Given the description of an element on the screen output the (x, y) to click on. 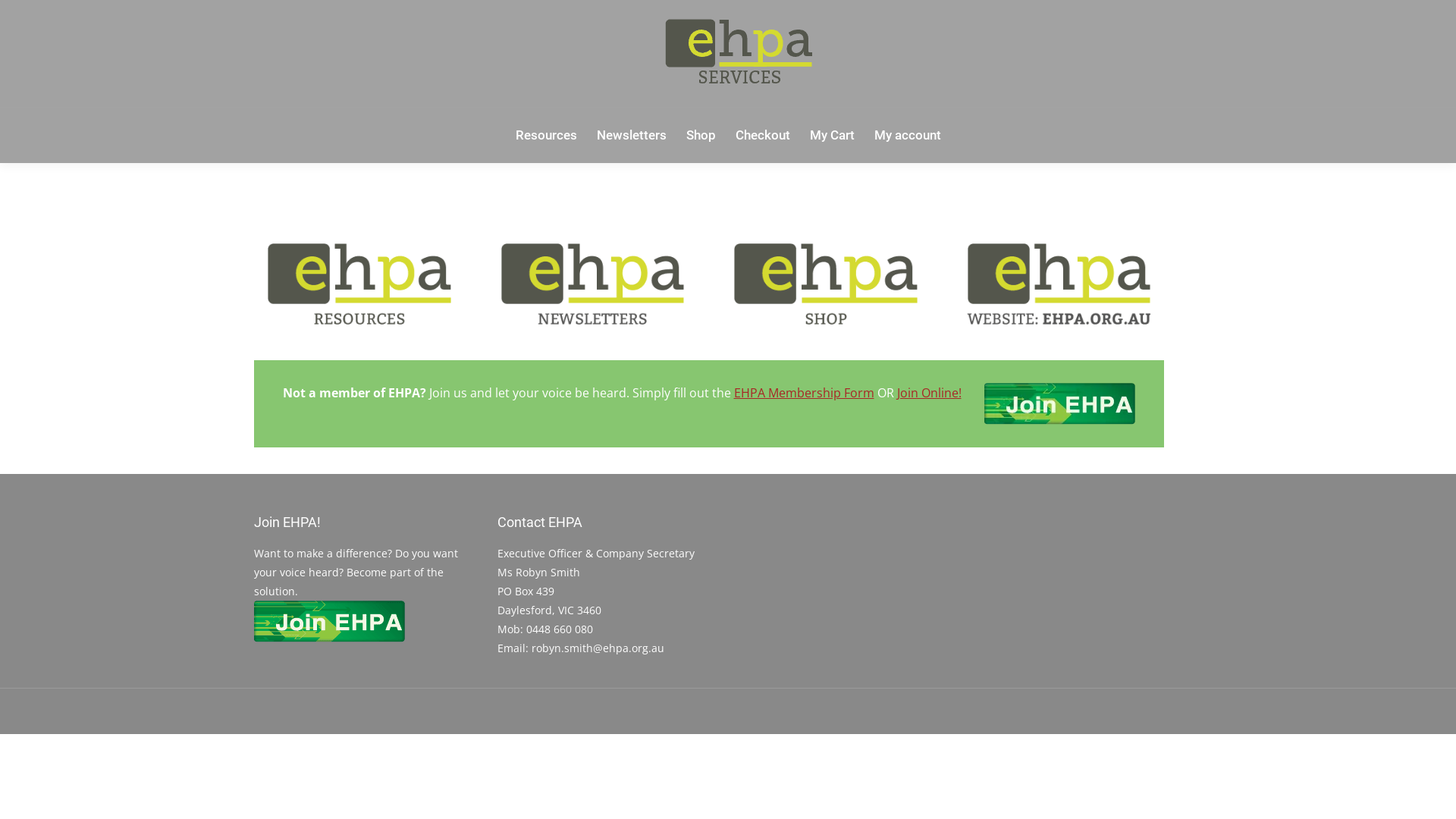
Resources Element type: text (546, 135)
robyn.smith@ehpa.org.au Element type: text (597, 647)
My account Element type: text (906, 135)
EHPA-Services-Newsletters Element type: hover (591, 285)
Checkout Element type: text (762, 135)
Join Online! Element type: text (928, 392)
EHPA-Services-Shop Element type: hover (825, 285)
Shop Element type: text (700, 135)
EHPA-Services-Resources Element type: hover (359, 285)
joinEHPA_200 Element type: hover (329, 621)
EHPA Membership Form Element type: text (804, 392)
EHPA-Service-Website Element type: hover (1058, 285)
Newsletters Element type: text (630, 135)
My Cart Element type: text (831, 135)
